Given the description of an element on the screen output the (x, y) to click on. 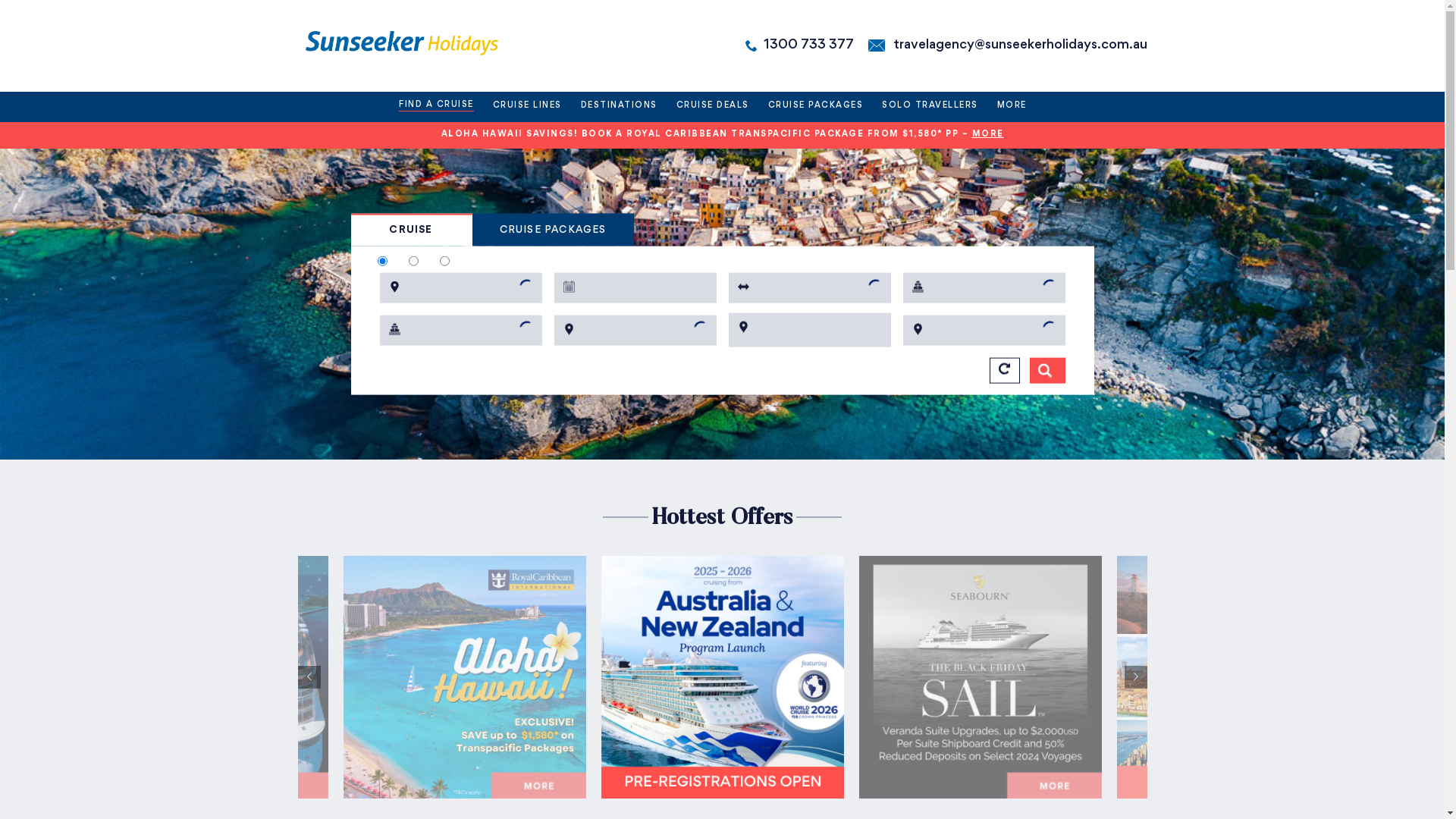
travelagency@sunseekerholidays.com.au Element type: text (1020, 45)
MORE Element type: text (988, 134)
MORE Element type: text (1011, 106)
FIND A CRUISE Element type: text (435, 106)
Next Element type: text (1134, 676)
CRUISE PACKAGES Element type: text (551, 230)
DESTINATIONS Element type: text (618, 106)
CRUISE DEALS Element type: text (712, 106)
SOLO TRAVELLERS Element type: text (929, 106)
CRUISE LINES Element type: text (526, 106)
1300 733 377 Element type: text (807, 45)
Previous Element type: text (308, 676)
CRUISE PACKAGES Element type: text (815, 106)
